Given the description of an element on the screen output the (x, y) to click on. 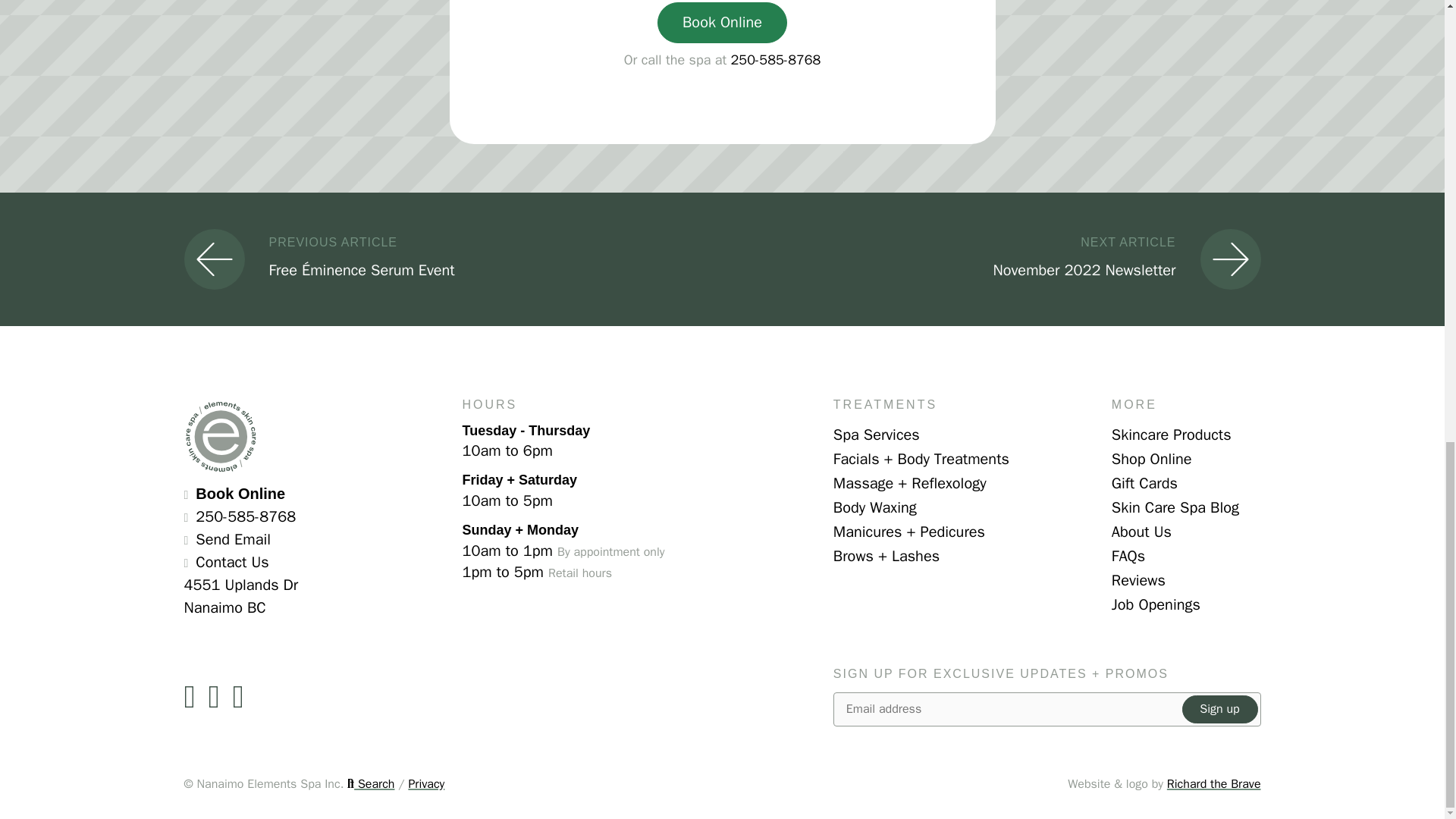
Send Email (232, 538)
250-585-8768 (775, 59)
Sign up (1218, 709)
250-585-8768 (245, 516)
Book Online (722, 22)
Book Online (240, 493)
